Given the description of an element on the screen output the (x, y) to click on. 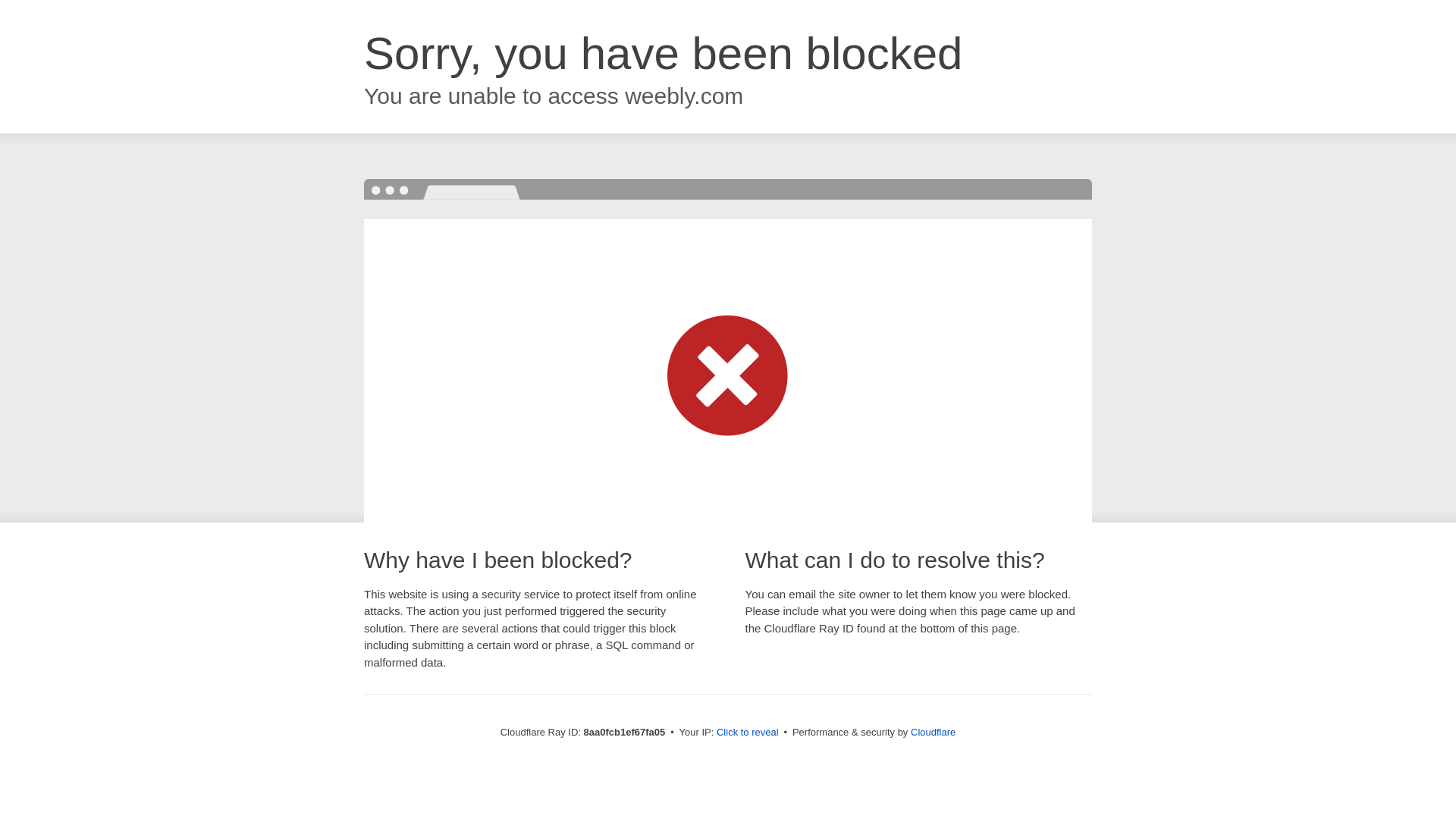
Click to reveal (747, 732)
Cloudflare (933, 731)
